Given the description of an element on the screen output the (x, y) to click on. 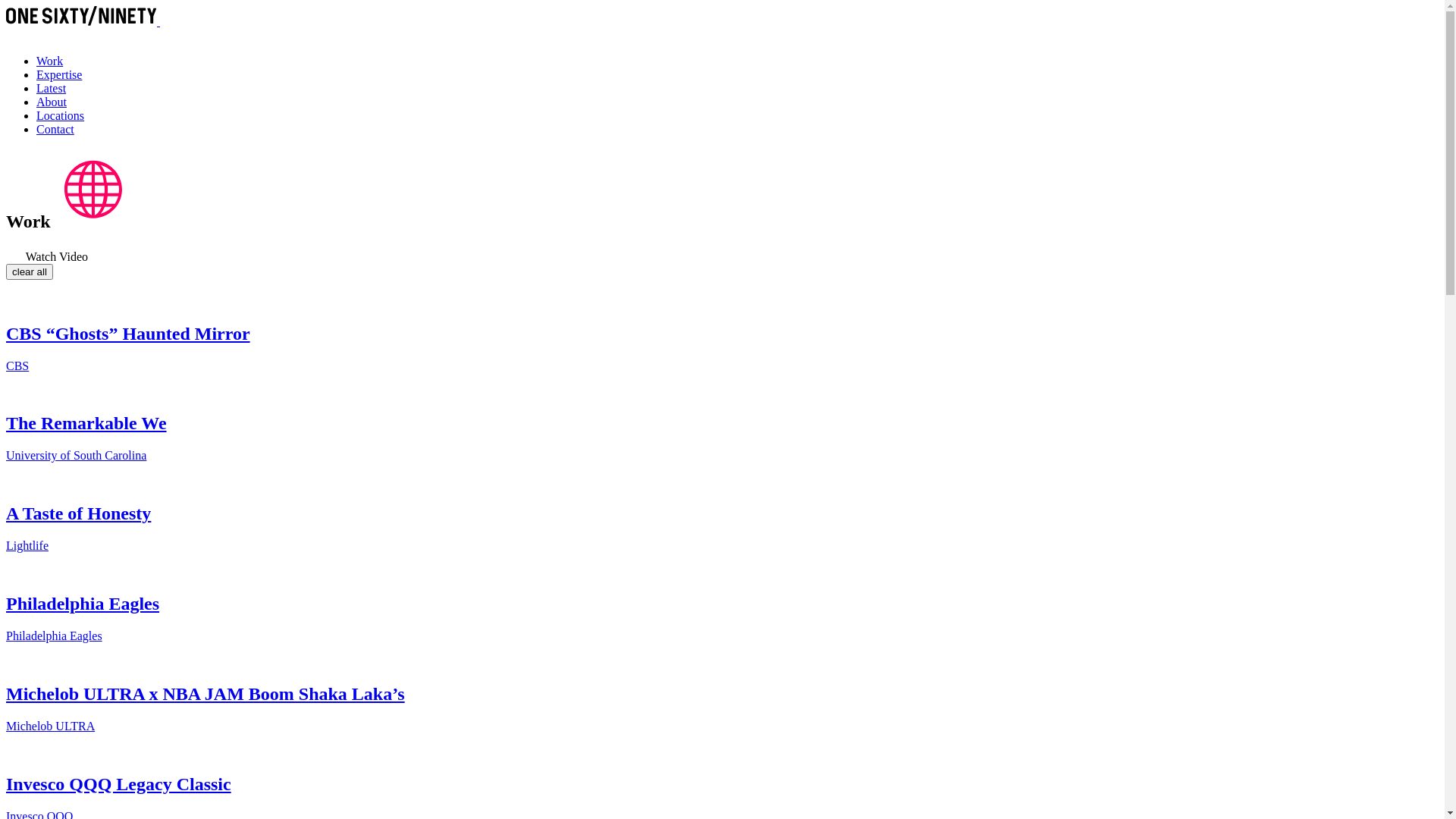
About Element type: text (51, 101)
Latest Element type: text (50, 87)
The Remarkable We
University of South Carolina Element type: text (722, 424)
Locations Element type: text (60, 115)
clear all Element type: text (29, 271)
Work Element type: text (49, 60)
Contact Element type: text (55, 128)
Expertise Element type: text (58, 74)
Philadelphia Eagles
Philadelphia Eagles Element type: text (722, 603)
A Taste of Honesty
Lightlife Element type: text (722, 513)
